Given the description of an element on the screen output the (x, y) to click on. 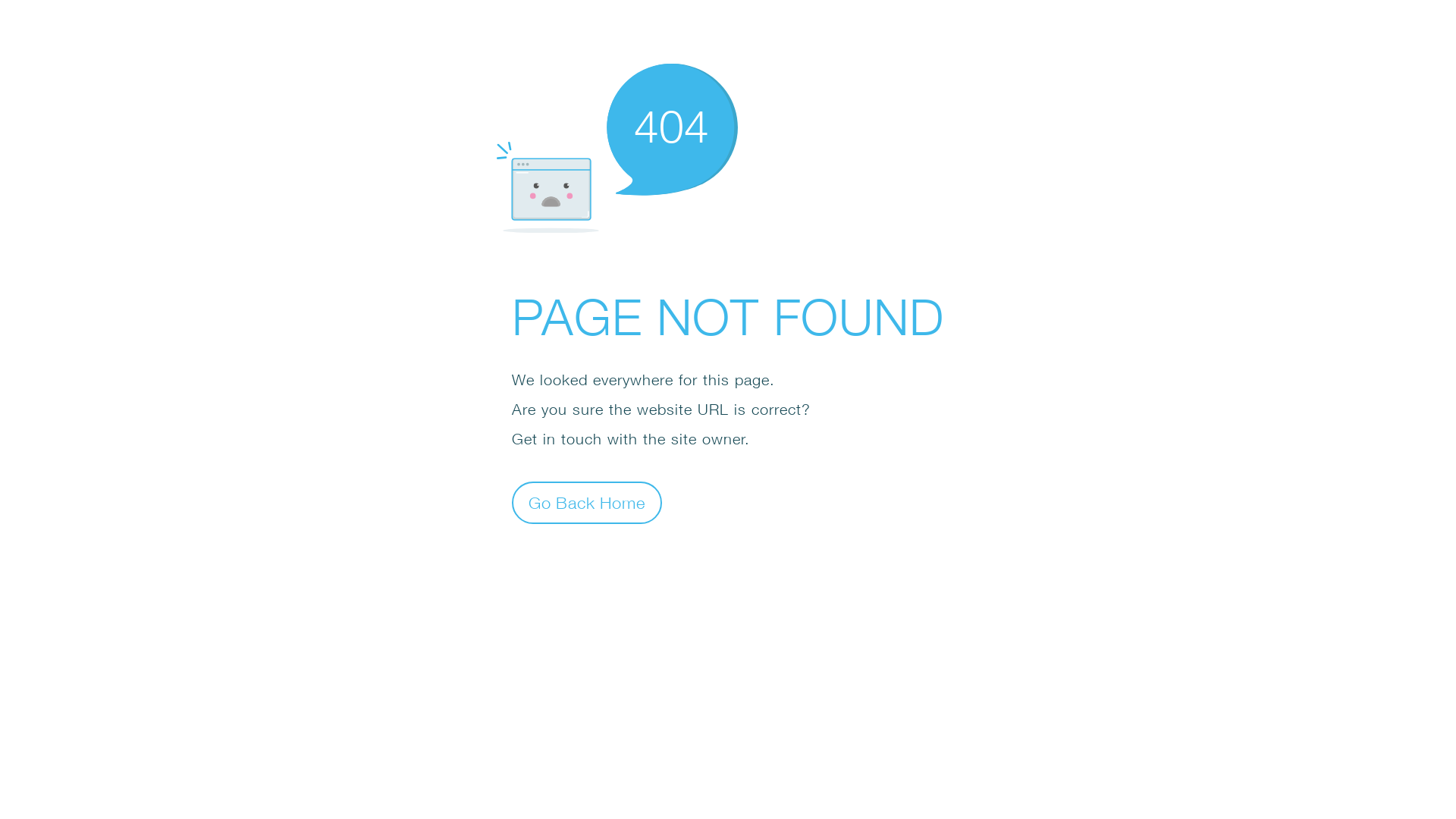
Go Back Home Element type: text (586, 502)
